Given the description of an element on the screen output the (x, y) to click on. 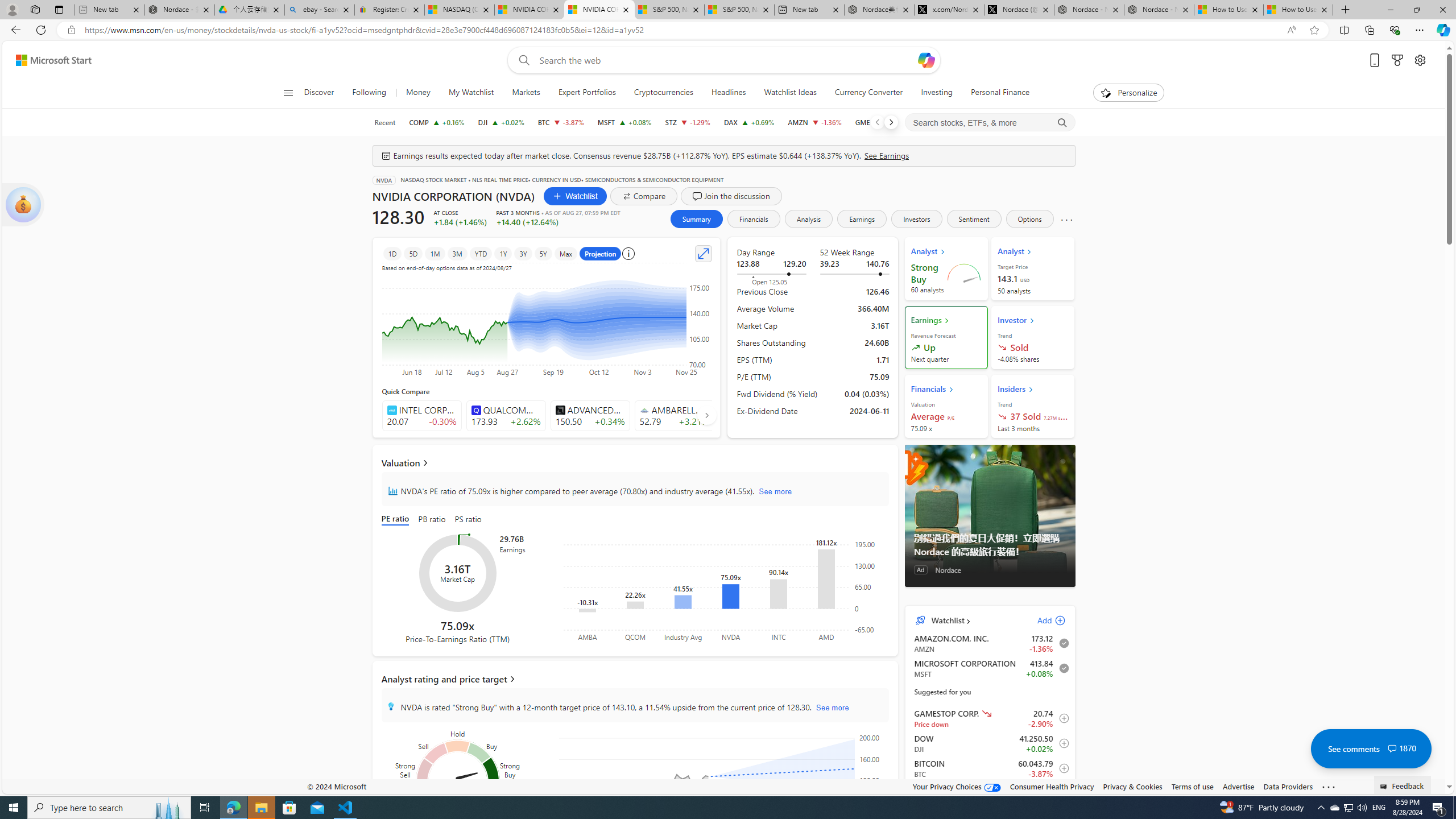
Your Privacy Choices (956, 786)
1Y (502, 253)
Compare (644, 195)
Skip to content (49, 59)
Watchlist Ideas (790, 92)
Analysis (808, 218)
Consumer Health Privacy (1051, 786)
How to Use a Monitor With Your Closed Laptop (1297, 9)
Markets (526, 92)
Open settings (1420, 60)
Register: Create a personal eBay account (389, 9)
